Given the description of an element on the screen output the (x, y) to click on. 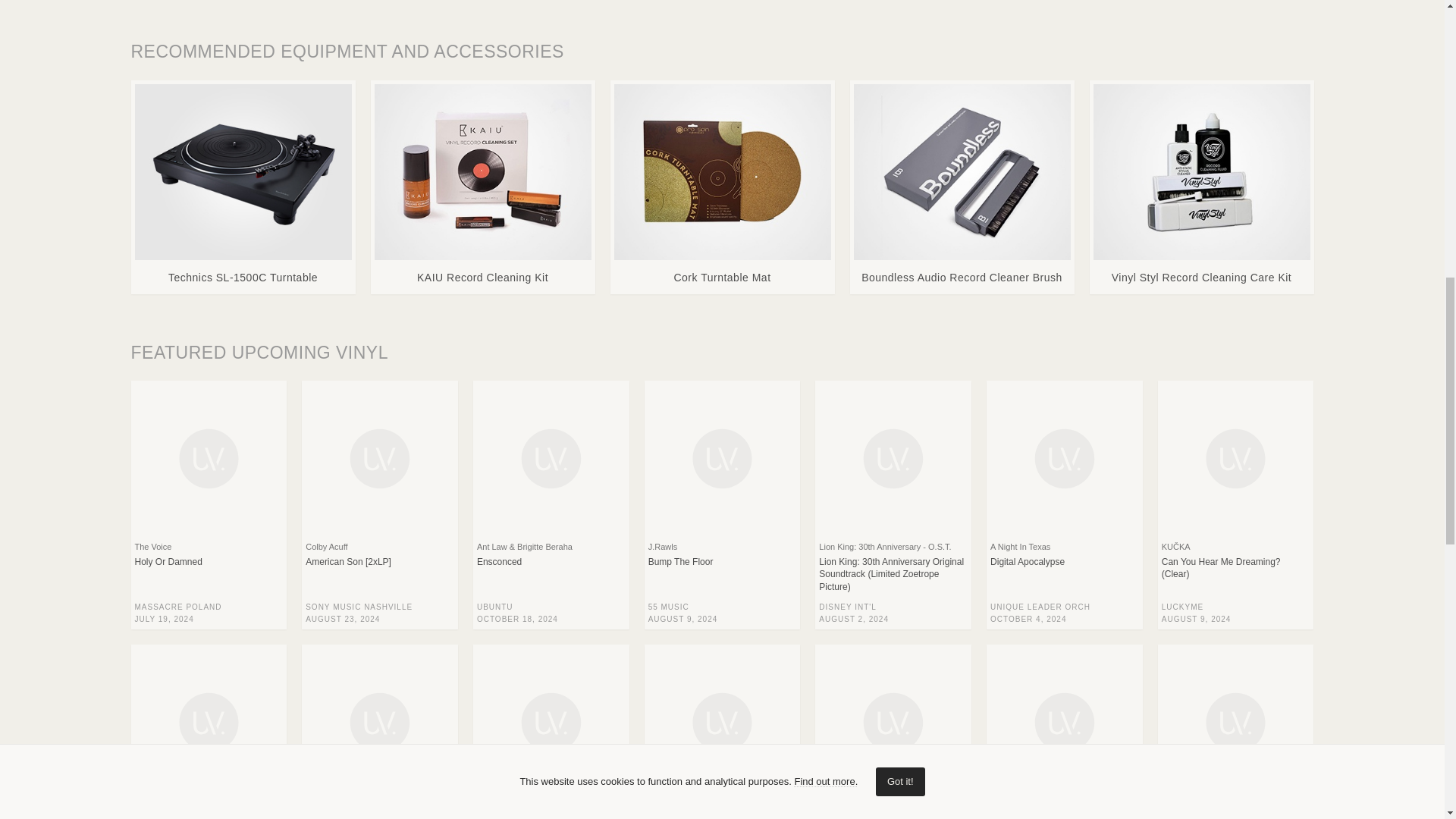
Technics SL-1500C Turntable (243, 187)
KAIU Record Cleaning Kit (482, 187)
